Given the description of an element on the screen output the (x, y) to click on. 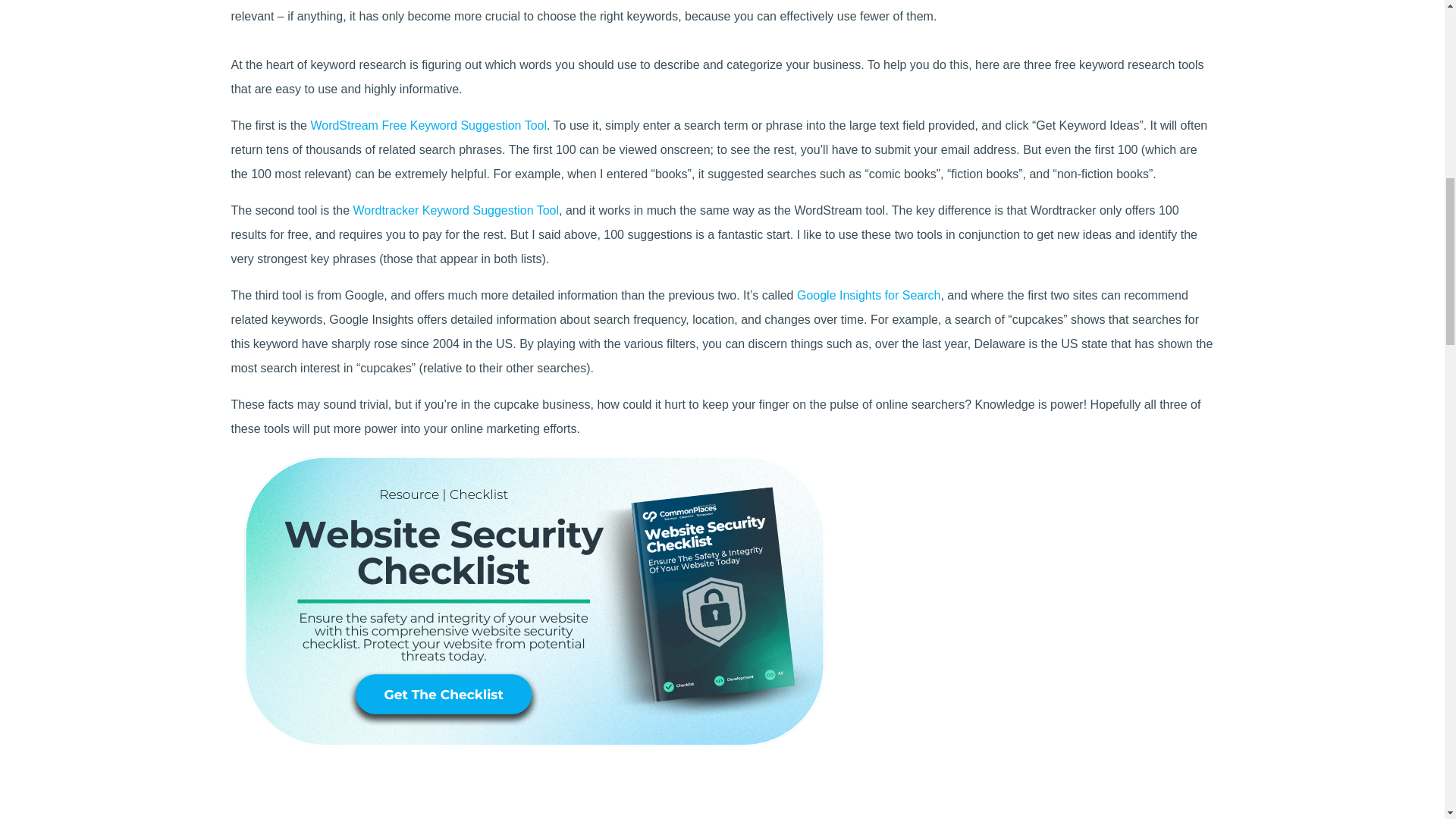
Wordtracker Keyword Suggestion Tool (455, 210)
Google Insights for Search (868, 295)
WordStream Free Keyword Suggestion Tool (428, 124)
